Given the description of an element on the screen output the (x, y) to click on. 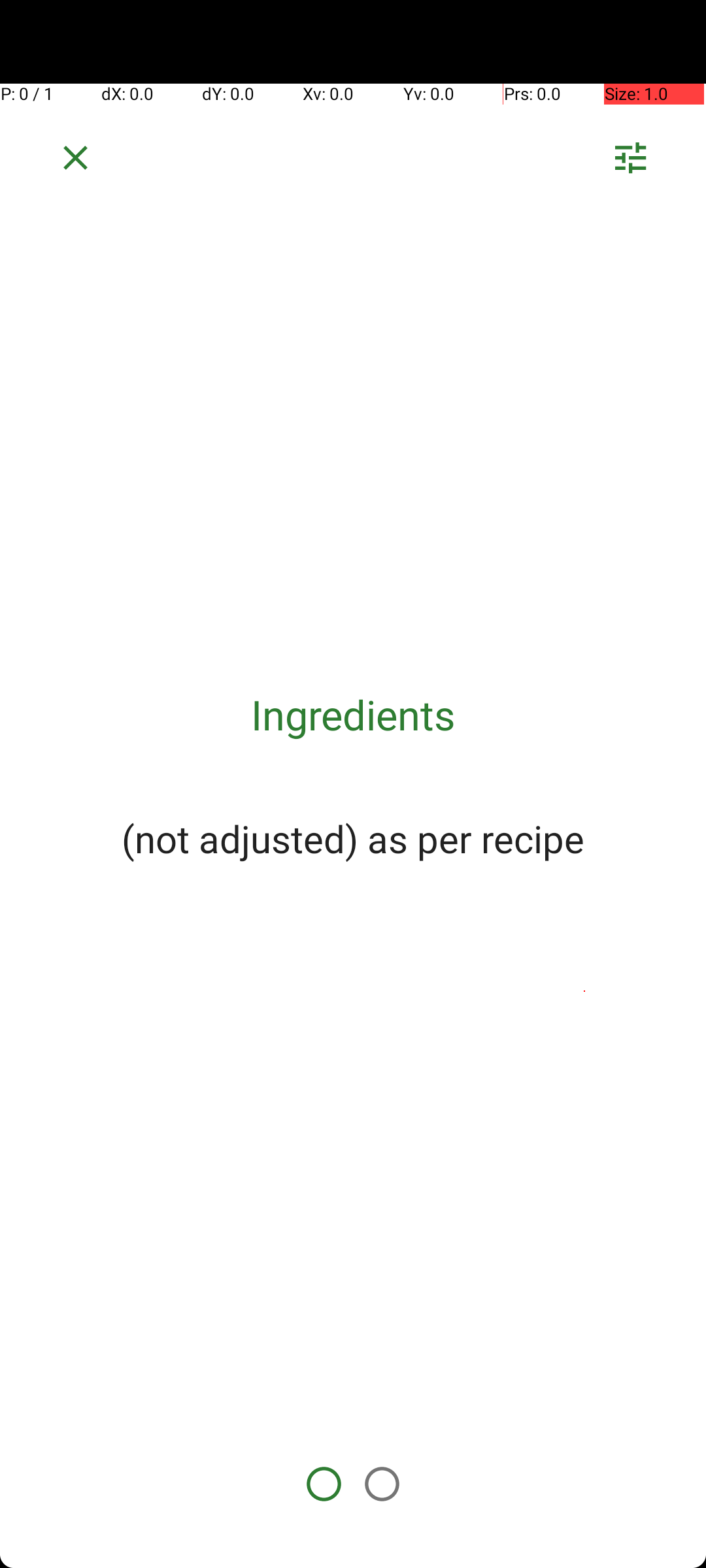
(not adjusted) as per recipe Element type: android.widget.TextView (353, 838)
